Given the description of an element on the screen output the (x, y) to click on. 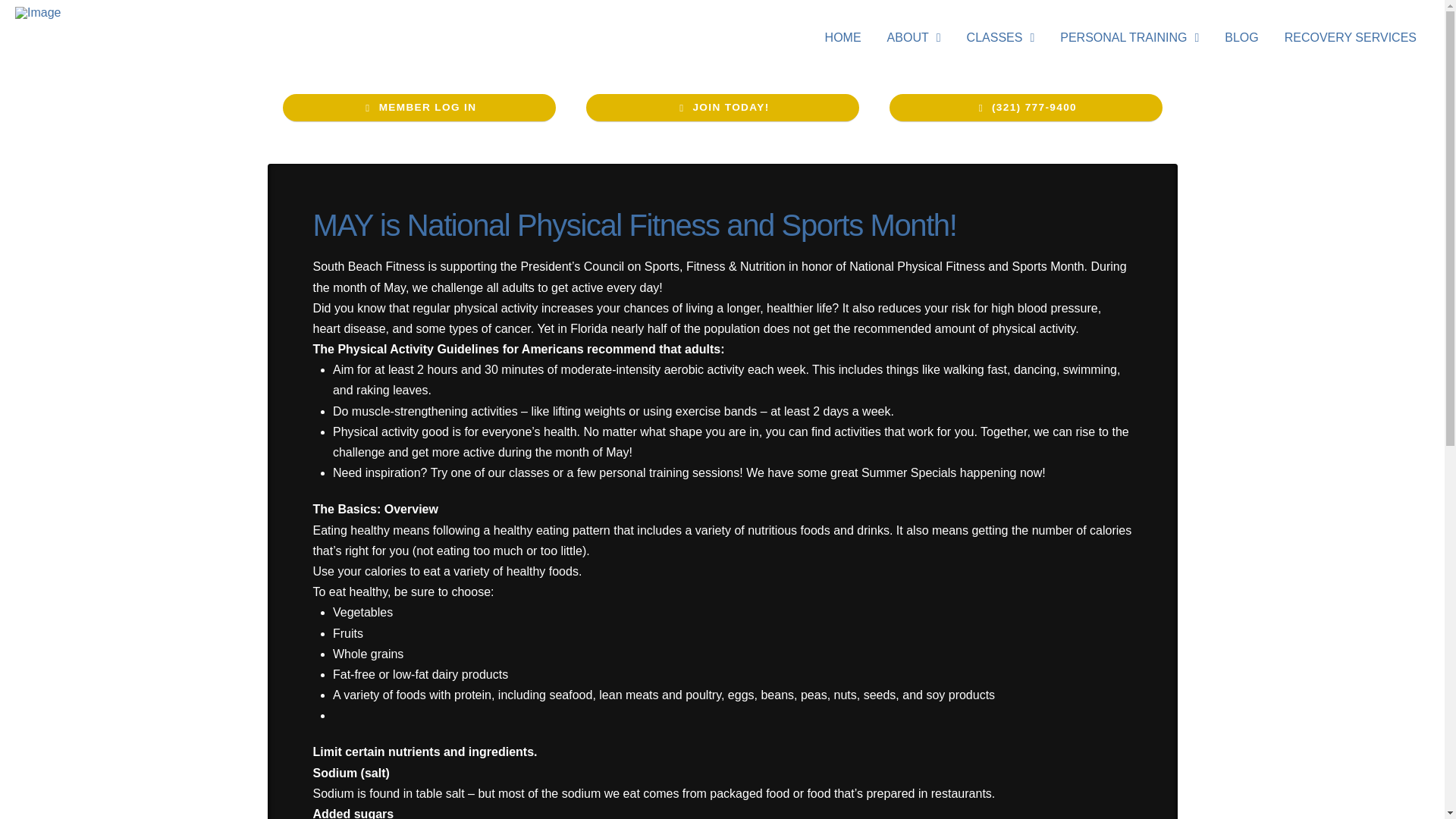
ABOUT (914, 38)
CLASSES (1000, 38)
PERSONAL TRAINING (1128, 38)
MEMBER LOG IN (418, 107)
JOIN TODAY! (722, 107)
RECOVERY SERVICES (1350, 38)
